Given the description of an element on the screen output the (x, y) to click on. 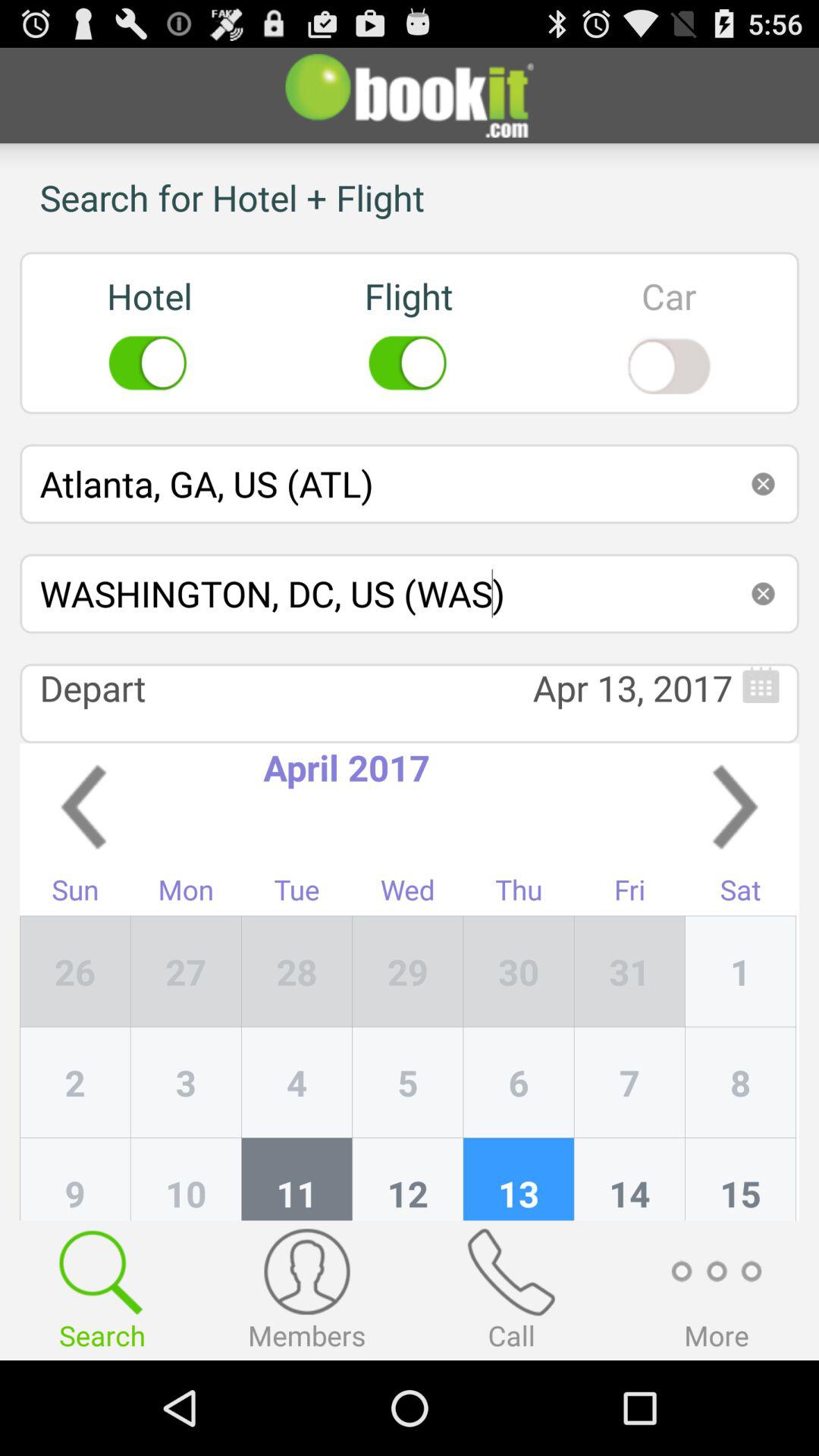
press item above 26 icon (74, 893)
